Given the description of an element on the screen output the (x, y) to click on. 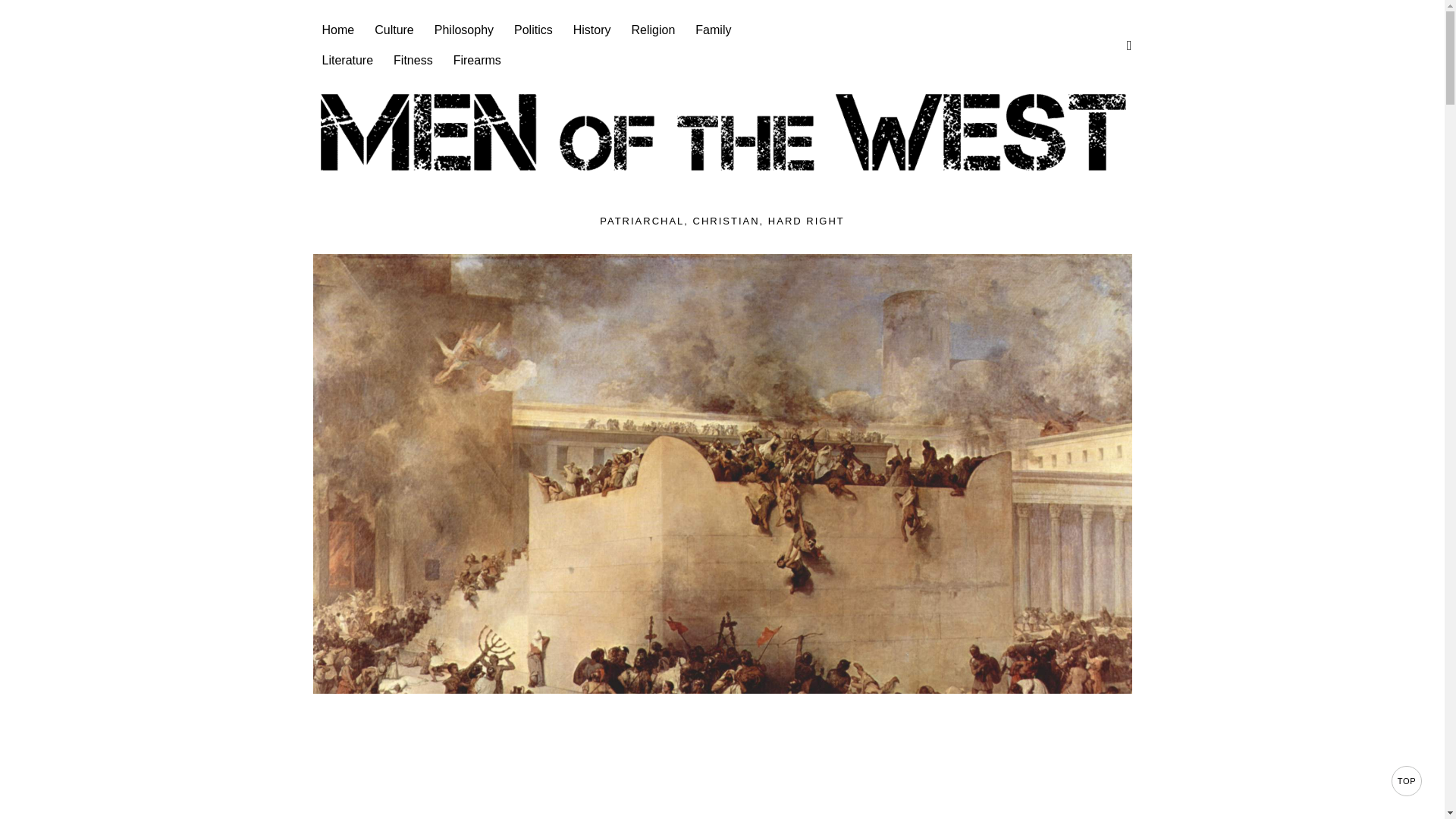
History (593, 30)
Home (339, 30)
Culture (395, 30)
Fitness (414, 60)
Family (713, 30)
Politics (534, 30)
TOP (1406, 780)
Literature (348, 60)
Firearms (478, 60)
Philosophy (465, 30)
